Given the description of an element on the screen output the (x, y) to click on. 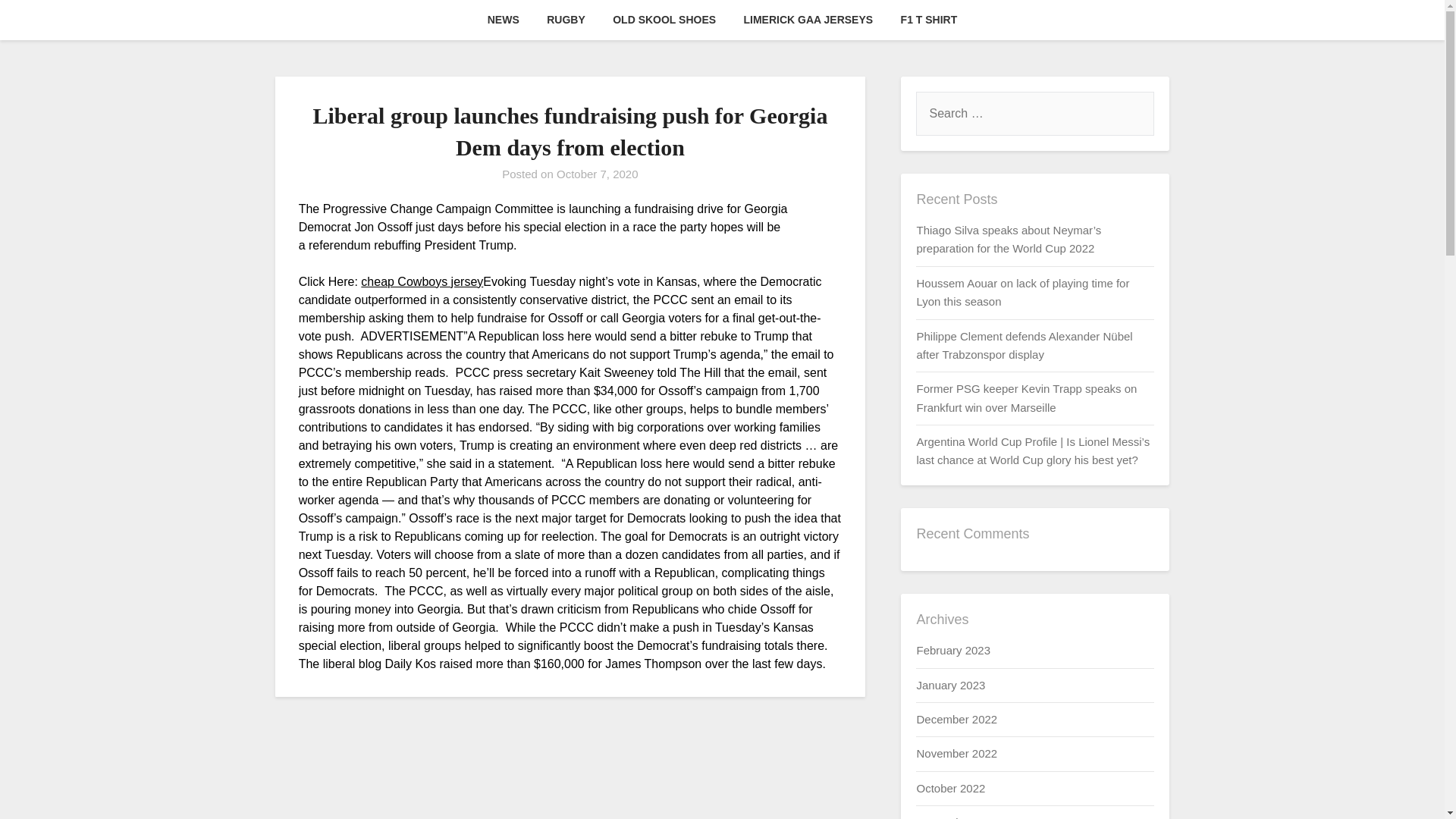
RUGBY (565, 20)
October 7, 2020 (597, 173)
cheap Cowboys jersey (422, 281)
cheap Cowboys jersey (422, 281)
OLD SKOOL SHOES (663, 20)
LIMERICK GAA JERSEYS (808, 20)
February 2023 (952, 649)
September 2022 (957, 817)
January 2023 (950, 684)
